Given the description of an element on the screen output the (x, y) to click on. 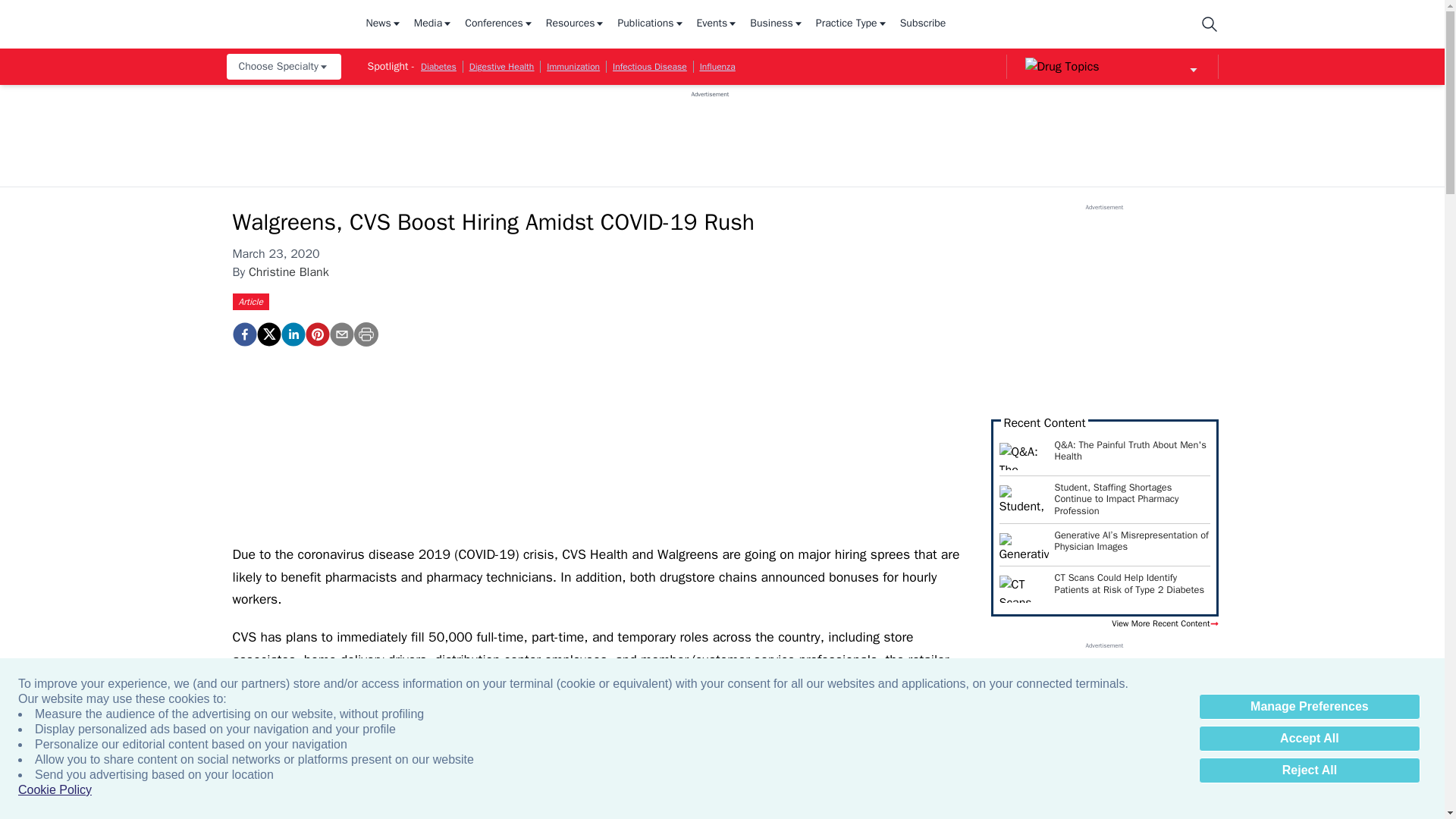
Reject All (1309, 769)
Manage Preferences (1309, 706)
News (383, 23)
Walgreens, CVS Boost Hiring Amidst COVID-19 Rush (316, 334)
Conferences (499, 23)
3rd party ad content (709, 132)
Accept All (1309, 738)
Publications (650, 23)
Resources (575, 23)
Events (717, 23)
